Given the description of an element on the screen output the (x, y) to click on. 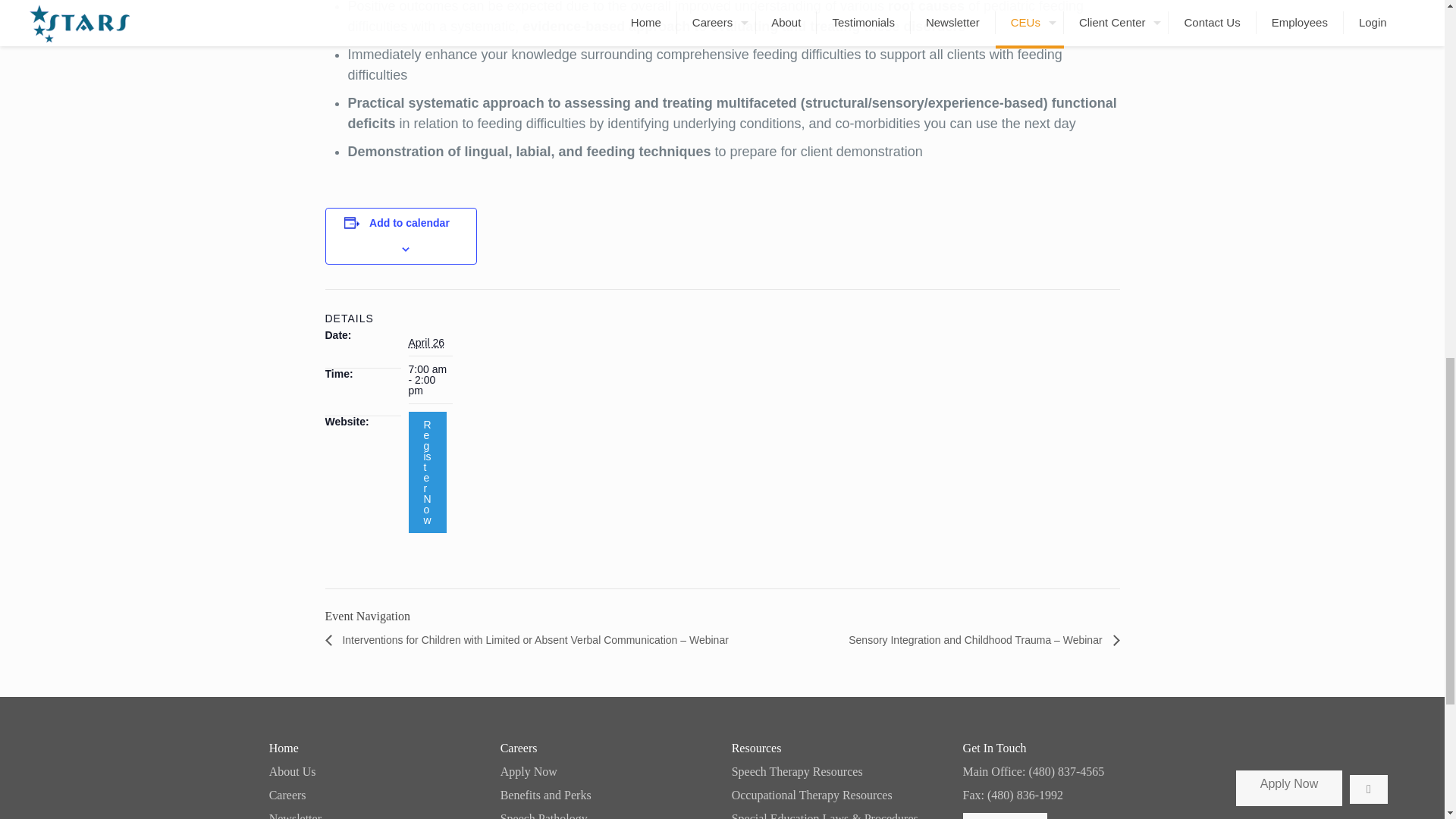
Careers (375, 795)
About Us (375, 771)
Newsletter (375, 816)
Register Now (426, 472)
Add to calendar (409, 223)
2024-04-26 (425, 342)
2024-04-26 (429, 379)
Home (375, 748)
